Given the description of an element on the screen output the (x, y) to click on. 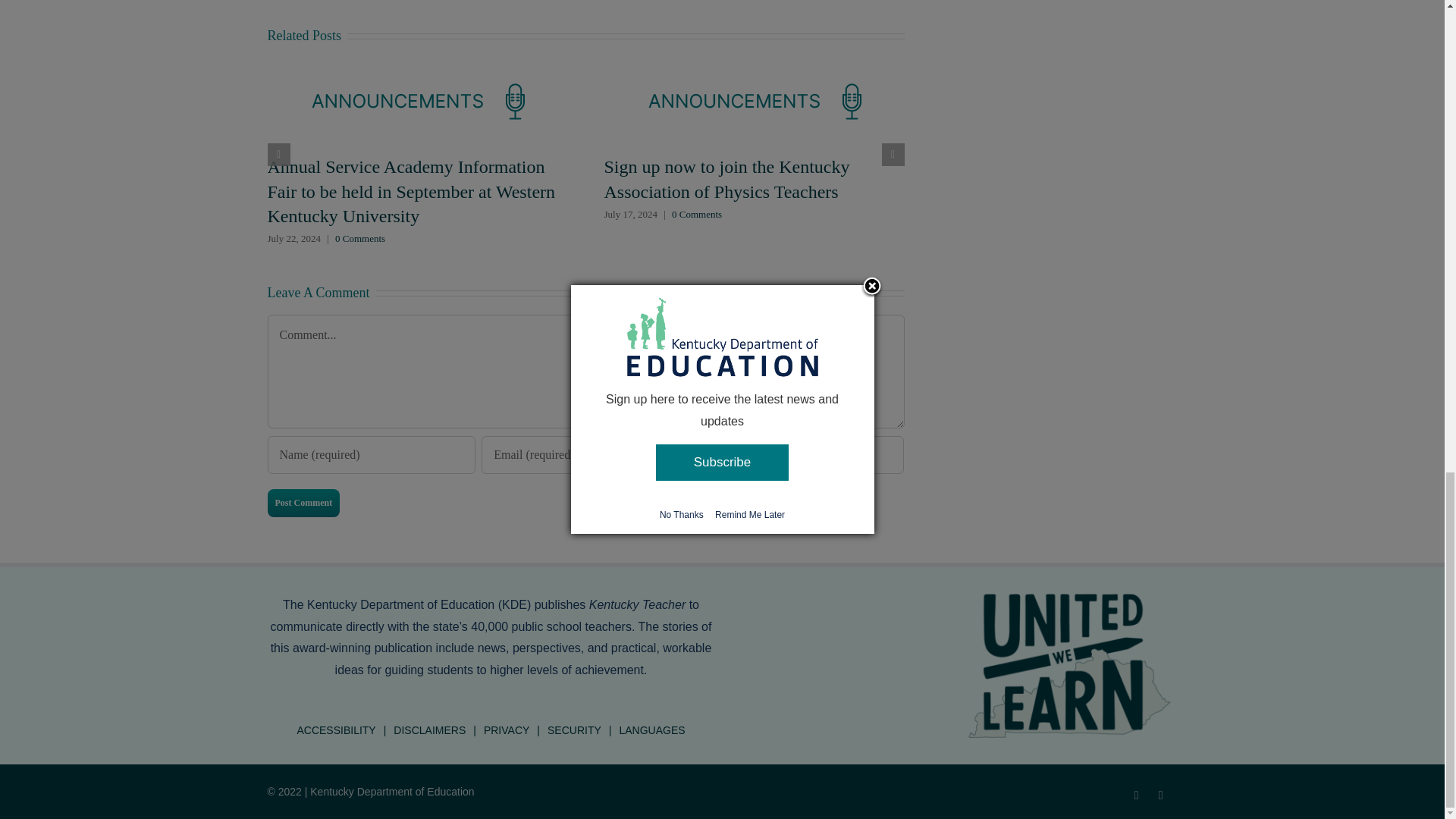
Post Comment (302, 502)
